Given the description of an element on the screen output the (x, y) to click on. 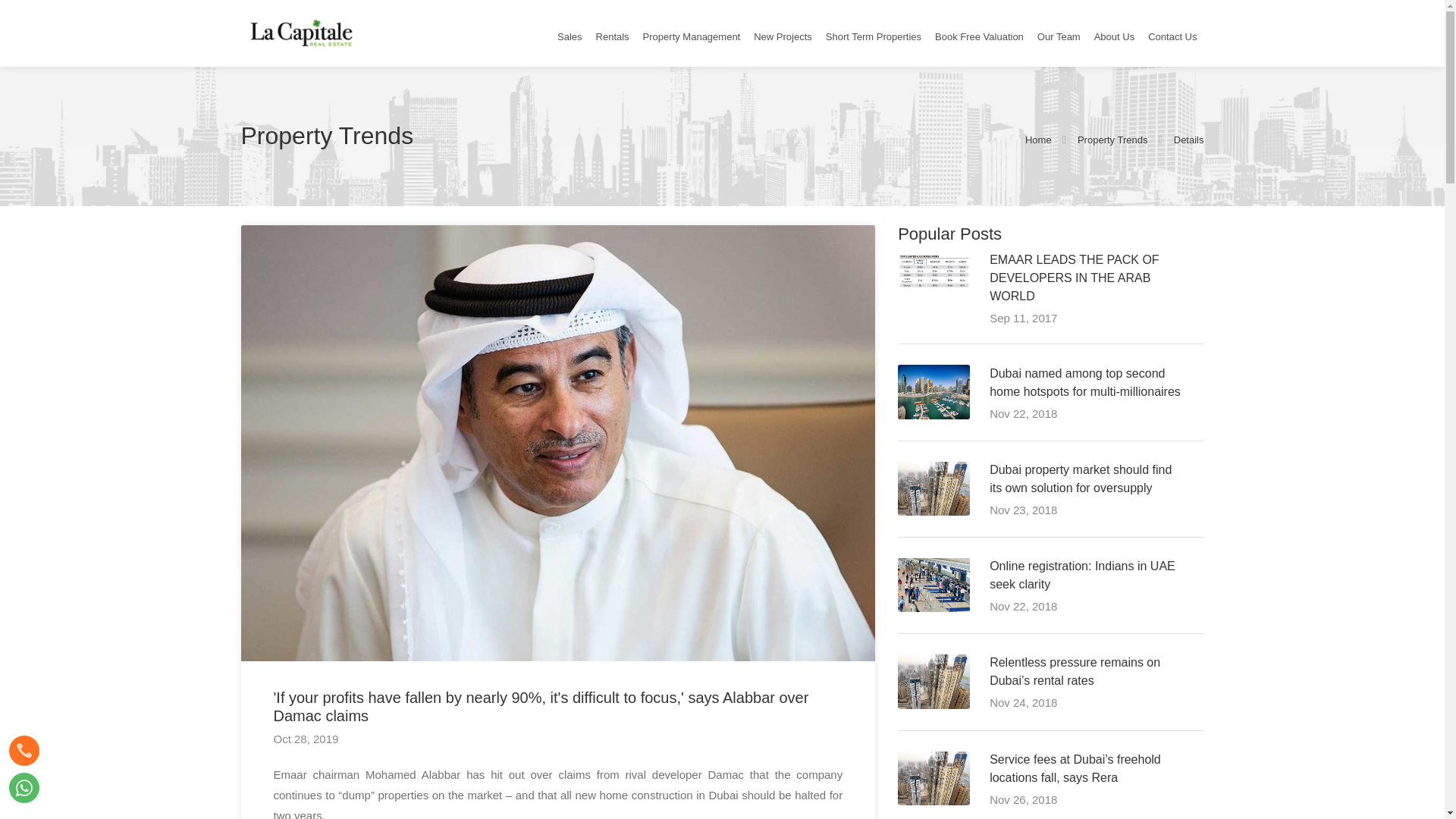
Rentals (612, 37)
Online registration: Indians in UAE seek clarity (1082, 574)
Our Team (1058, 37)
Book Free Valuation (978, 37)
Property Trends (1112, 138)
Go to Lacapitale. (1112, 138)
Short Term Properties (873, 37)
Contact Us (1171, 37)
New Projects (782, 37)
EMAAR LEADS THE PACK OF DEVELOPERS IN THE ARAB WORLD (1074, 277)
Property Management (692, 37)
Sales (569, 37)
Home (1038, 138)
